Given the description of an element on the screen output the (x, y) to click on. 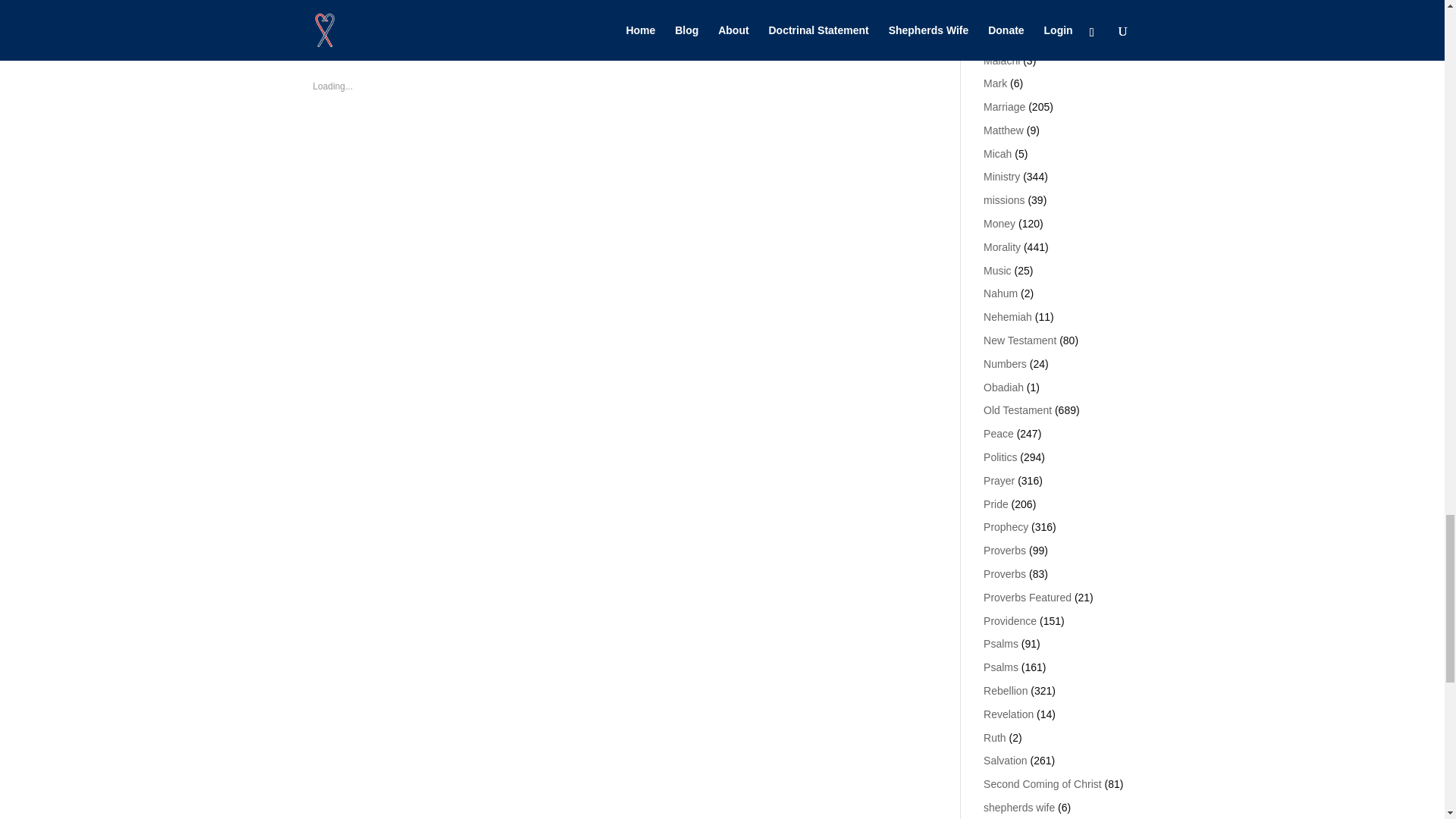
Facebook (419, 9)
More (691, 9)
Print (553, 9)
Click to share on Facebook (419, 9)
LinkedIn (623, 9)
Twitter (343, 9)
Click to print (553, 9)
Click to email a link to a friend (493, 9)
Click to share on LinkedIn (623, 9)
Email (493, 9)
Click to share on Twitter (343, 9)
